Given the description of an element on the screen output the (x, y) to click on. 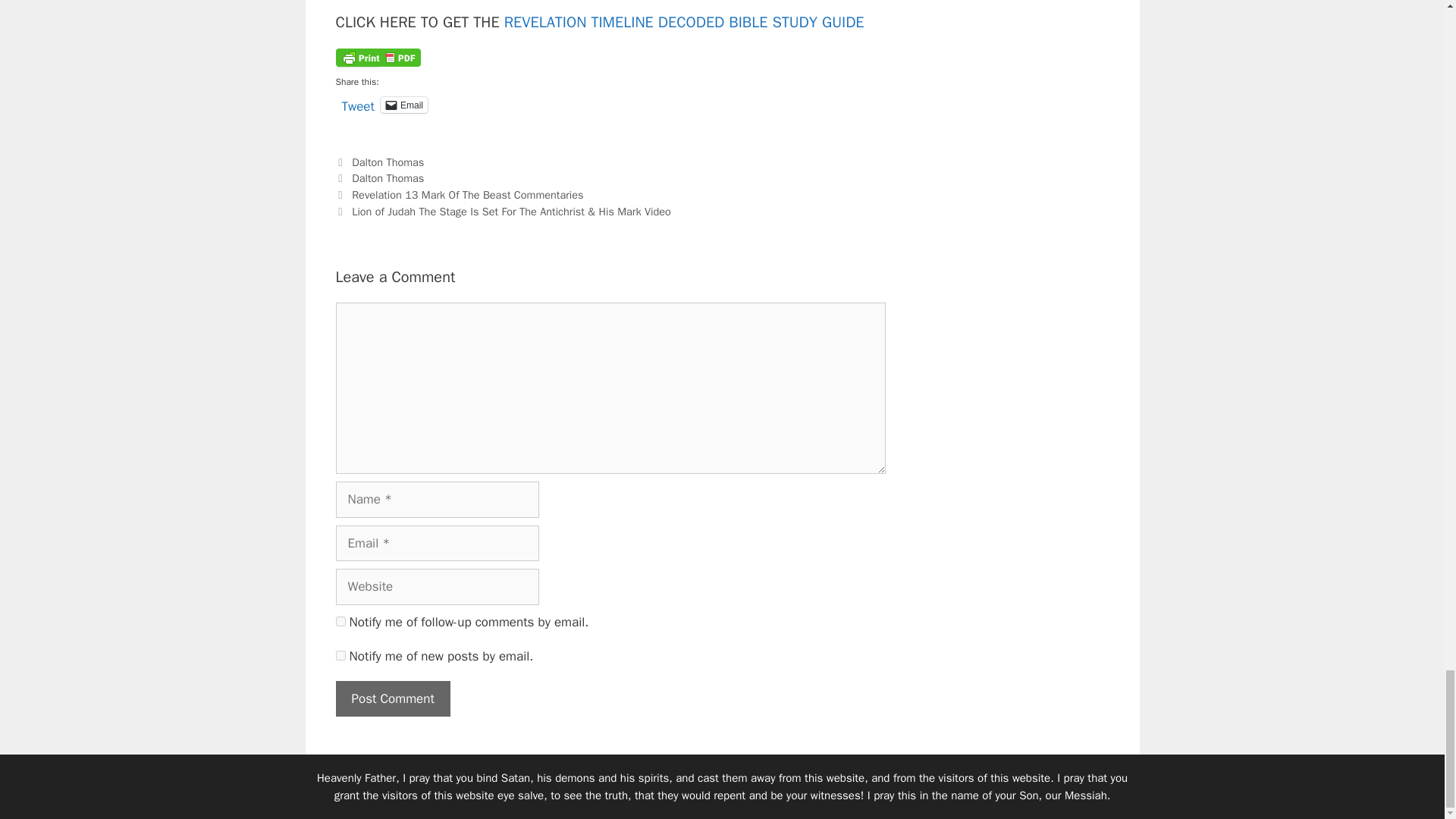
Click to email a link to a friend (404, 105)
Email (404, 105)
subscribe (339, 655)
Dalton Thomas (387, 178)
Post Comment (391, 698)
REVELATION TIMELINE DECODED BIBLE STUDY GUIDE (683, 22)
subscribe (339, 621)
Tweet (357, 103)
Next (501, 211)
Previous (458, 194)
